Given the description of an element on the screen output the (x, y) to click on. 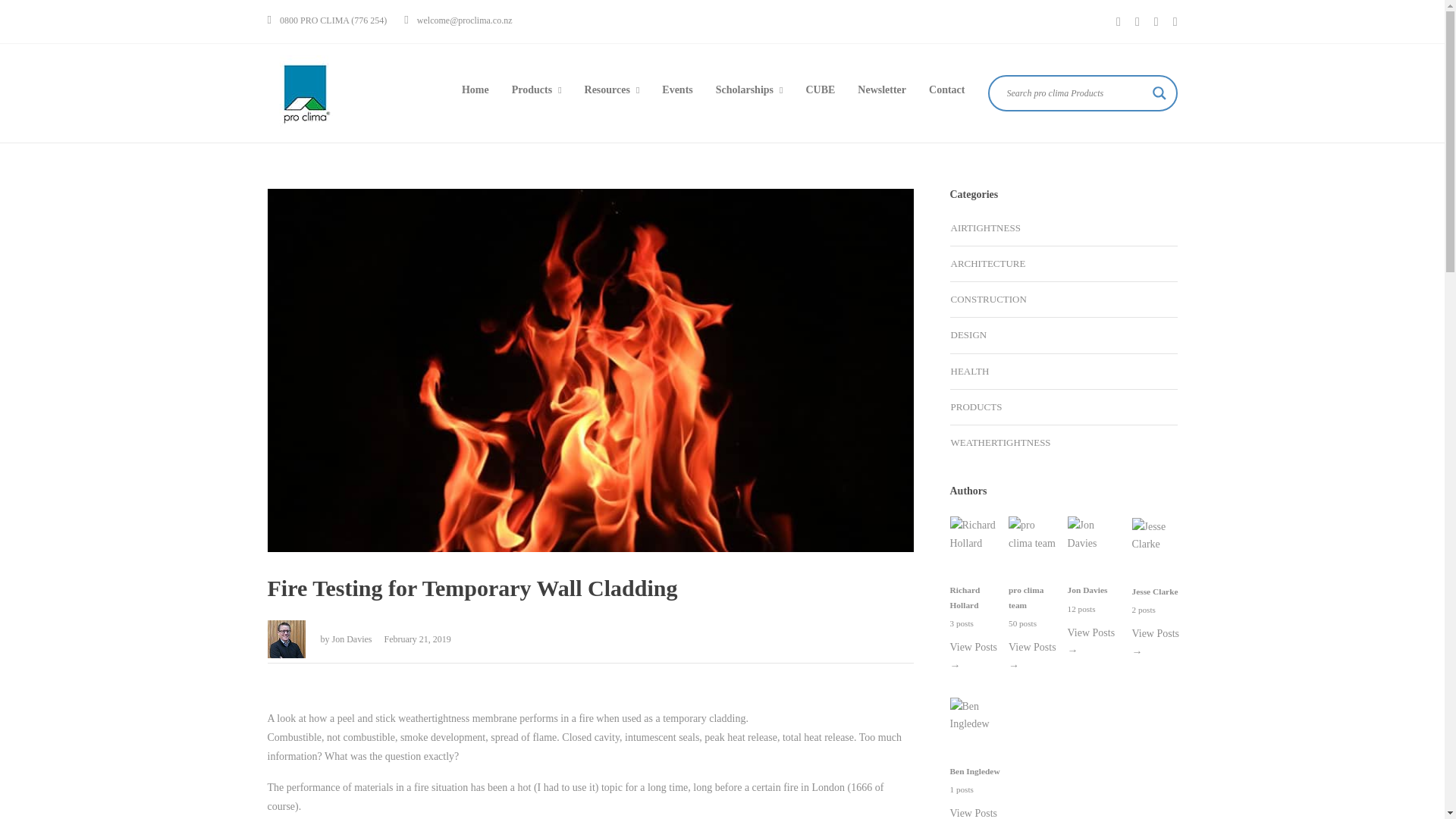
Fire Testing for Temporary Wall Cladding (285, 638)
Fire Testing for Temporary Wall Cladding (589, 594)
Scholarships (749, 89)
Jon Davies (352, 638)
